Given the description of an element on the screen output the (x, y) to click on. 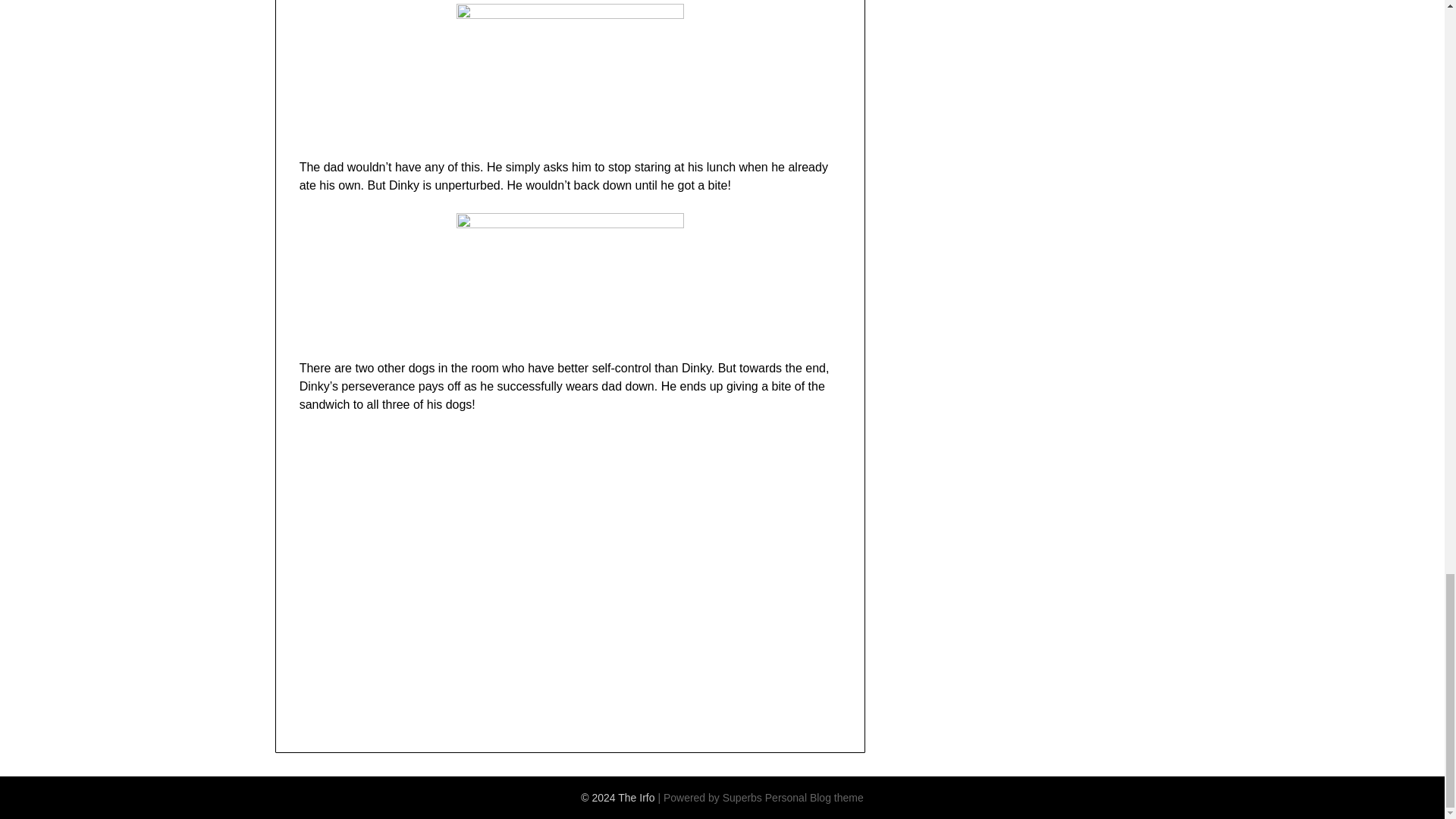
Personal Blog theme (814, 797)
Linda listen! (541, 568)
